Given the description of an element on the screen output the (x, y) to click on. 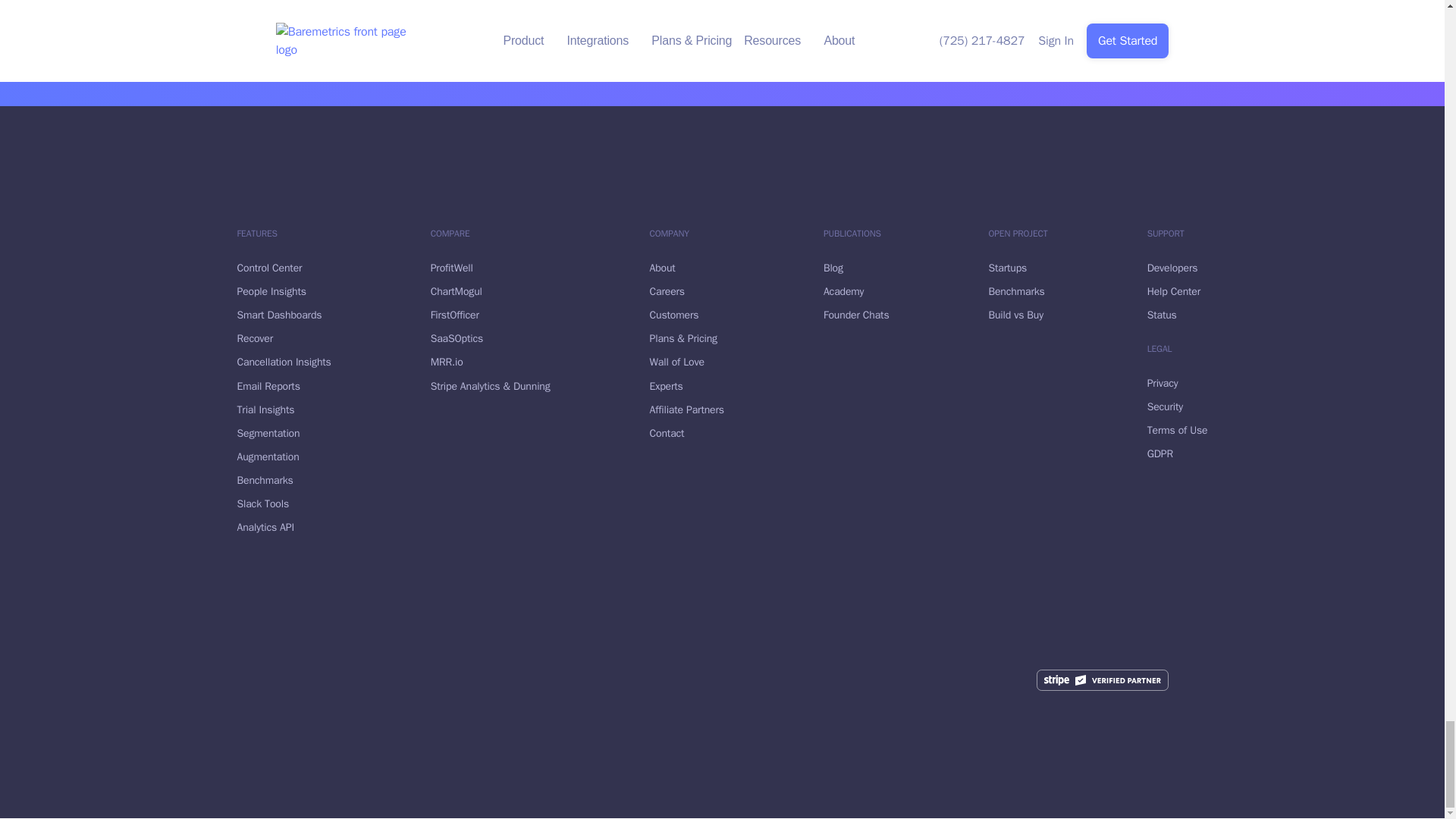
Stripe Verified Partner check mark (1102, 680)
